Given the description of an element on the screen output the (x, y) to click on. 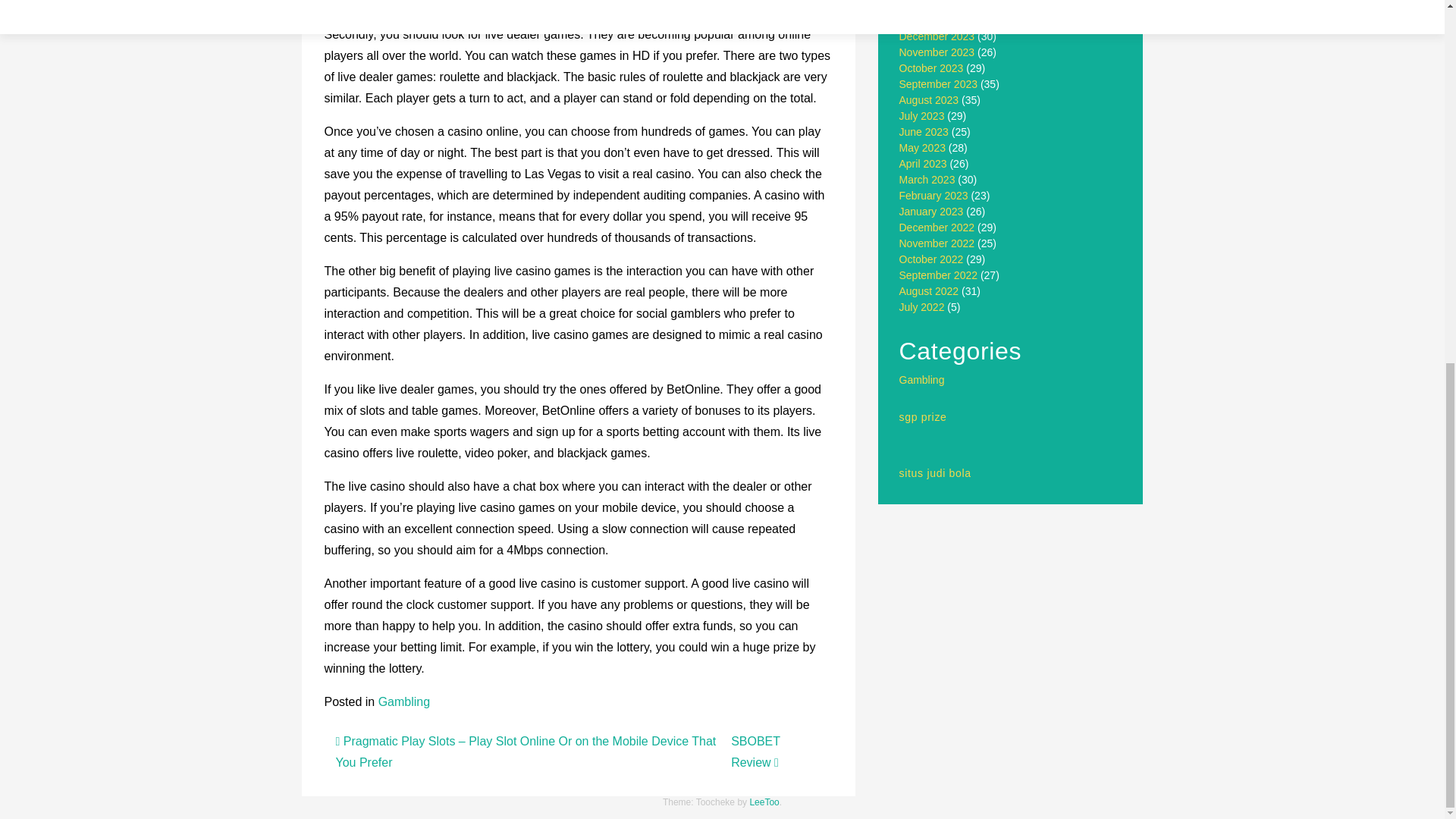
February 2023 (933, 195)
March 2023 (927, 179)
August 2022 (929, 291)
November 2022 (937, 243)
August 2023 (929, 100)
sgp prize (923, 417)
January 2024 (931, 20)
November 2023 (937, 51)
October 2022 (931, 259)
January 2023 (931, 211)
February 2024 (933, 5)
Gambling (921, 379)
July 2022 (921, 306)
Gambling (403, 701)
June 2023 (924, 132)
